Given the description of an element on the screen output the (x, y) to click on. 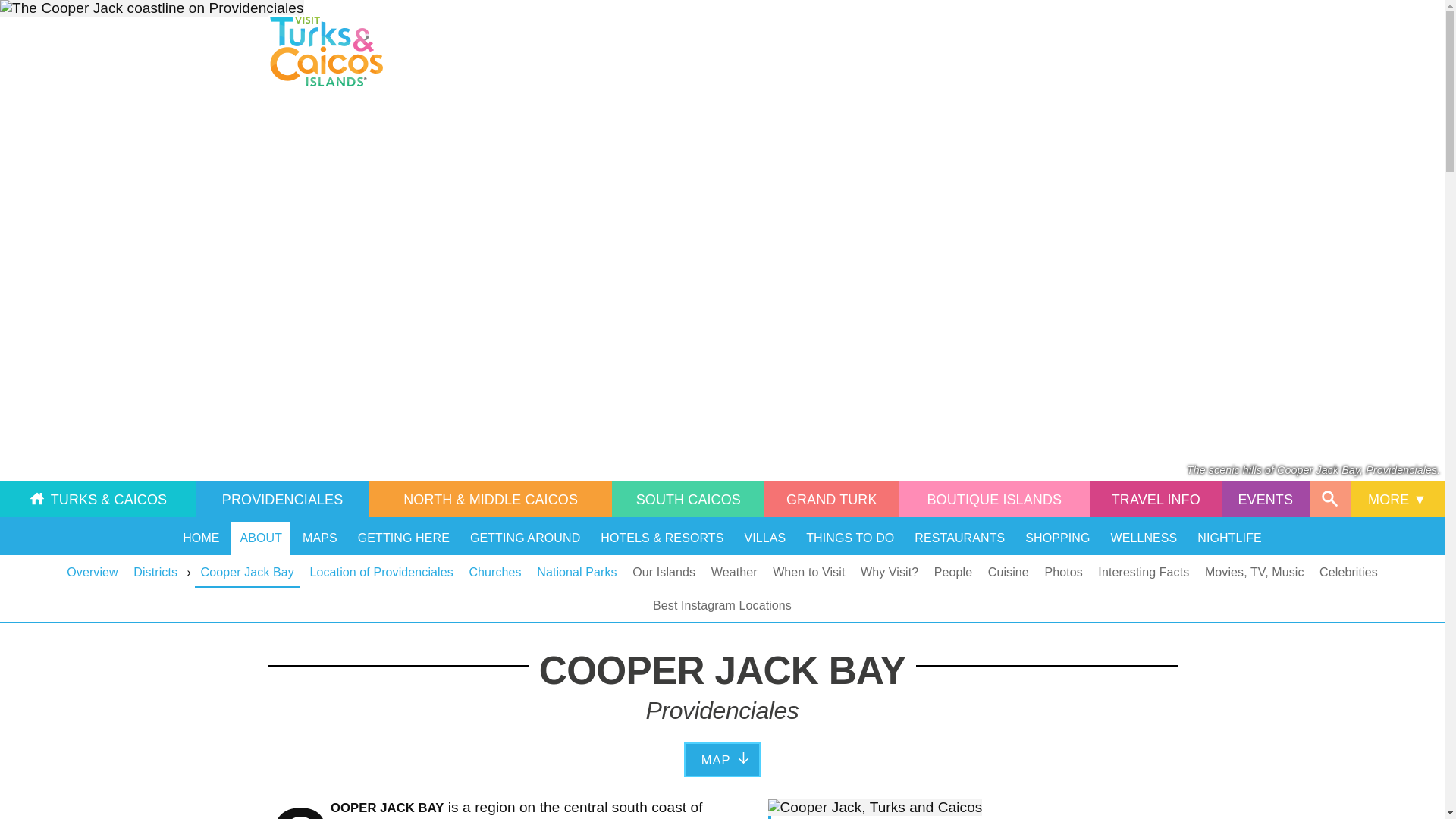
Our Islands (663, 572)
Cooper Jack Bay (247, 572)
Districts (155, 572)
MAPS (320, 538)
National Parks (577, 572)
GETTING AROUND (525, 538)
HOME (201, 538)
NIGHTLIFE (1229, 538)
SHOPPING (1057, 538)
PROVIDENCIALES (282, 498)
ABOUT (260, 538)
Location of Providenciales (380, 572)
VILLAS (764, 538)
WELLNESS (1143, 538)
SOUTH CAICOS (687, 498)
